Given the description of an element on the screen output the (x, y) to click on. 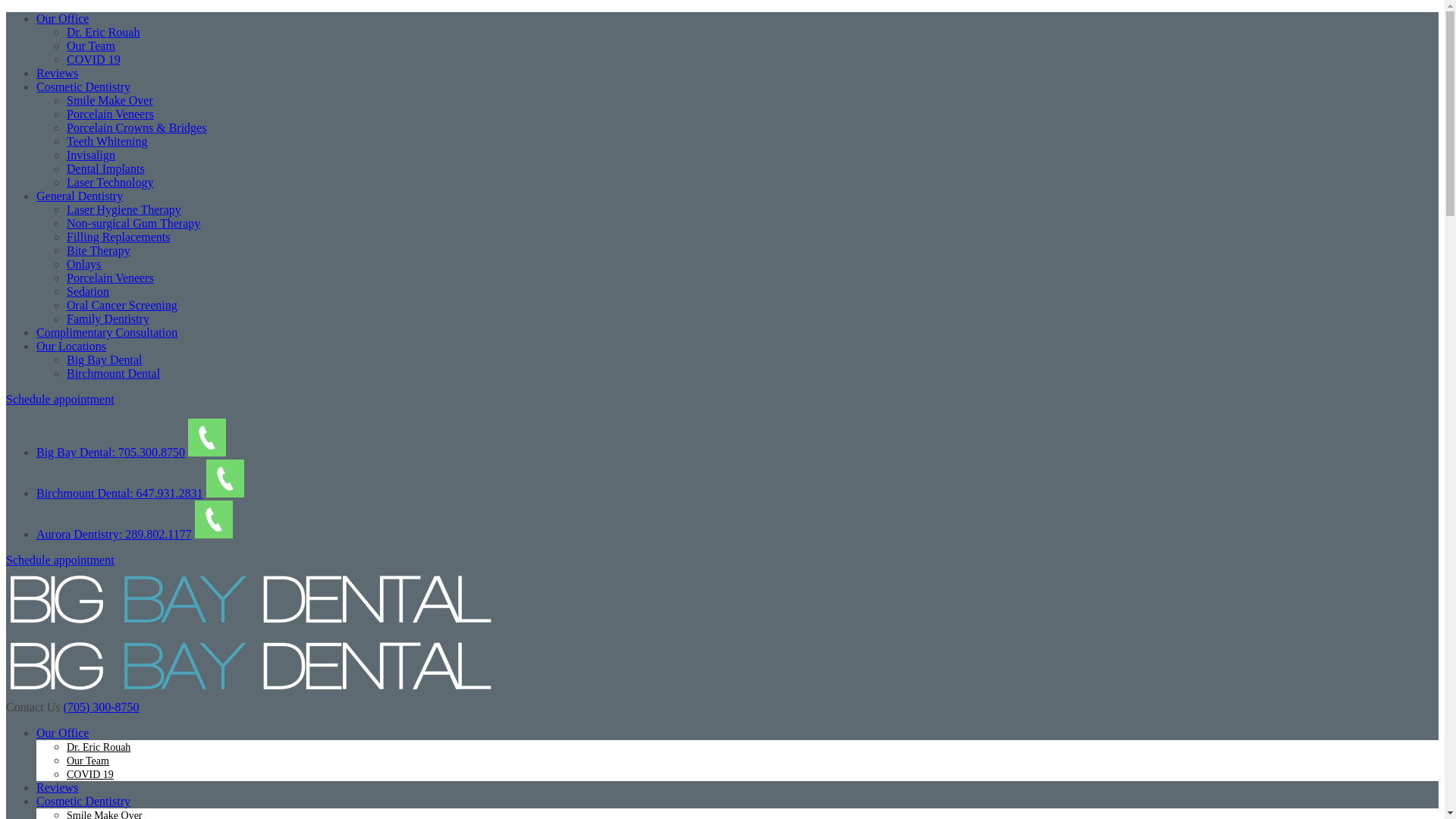
Our Office Element type: text (62, 732)
COVID 19 Element type: text (89, 774)
Dr. Eric Rouah Element type: text (98, 747)
General Dentistry Element type: text (79, 195)
Oral Cancer Screening Element type: text (121, 304)
Big Bay Dental Element type: hover (250, 693)
Family Dentistry Element type: text (107, 318)
Porcelain Veneers Element type: text (109, 113)
Our Locations Element type: text (71, 345)
Big Bay Dental Element type: hover (250, 626)
Our Office Element type: text (62, 18)
Cosmetic Dentistry Element type: text (83, 800)
COVID 19 Element type: text (93, 59)
Dr. Eric Rouah Element type: text (102, 31)
Our Team Element type: text (87, 760)
Big Bay Dental Element type: text (104, 359)
Onlays Element type: text (83, 263)
Dental Implants Element type: text (105, 168)
Reviews Element type: text (57, 787)
Invisalign Element type: text (90, 154)
Teeth Whitening Element type: text (106, 140)
Birchmount Dental Element type: text (113, 373)
Cosmetic Dentistry Element type: text (83, 86)
Schedule appointment Element type: text (60, 398)
Birchmount Dental: 647.931.2831 Element type: text (119, 492)
Our Team Element type: text (90, 45)
Big Bay Dental: 705.300.8750 Element type: text (110, 451)
Reviews Element type: text (57, 72)
Porcelain Veneers Element type: text (109, 277)
Complimentary Consultation Element type: text (106, 332)
Non-surgical Gum Therapy Element type: text (133, 222)
Smile Make Over Element type: text (109, 100)
Sedation Element type: text (87, 291)
Schedule appointment Element type: text (60, 559)
Porcelain Crowns & Bridges Element type: text (136, 127)
Aurora Dentistry: 289.802.1177 Element type: text (113, 533)
Laser Hygiene Therapy Element type: text (123, 209)
Bite Therapy Element type: text (98, 250)
(705) 300-8750 Element type: text (101, 706)
Filling Replacements Element type: text (117, 236)
Laser Technology Element type: text (109, 181)
